Given the description of an element on the screen output the (x, y) to click on. 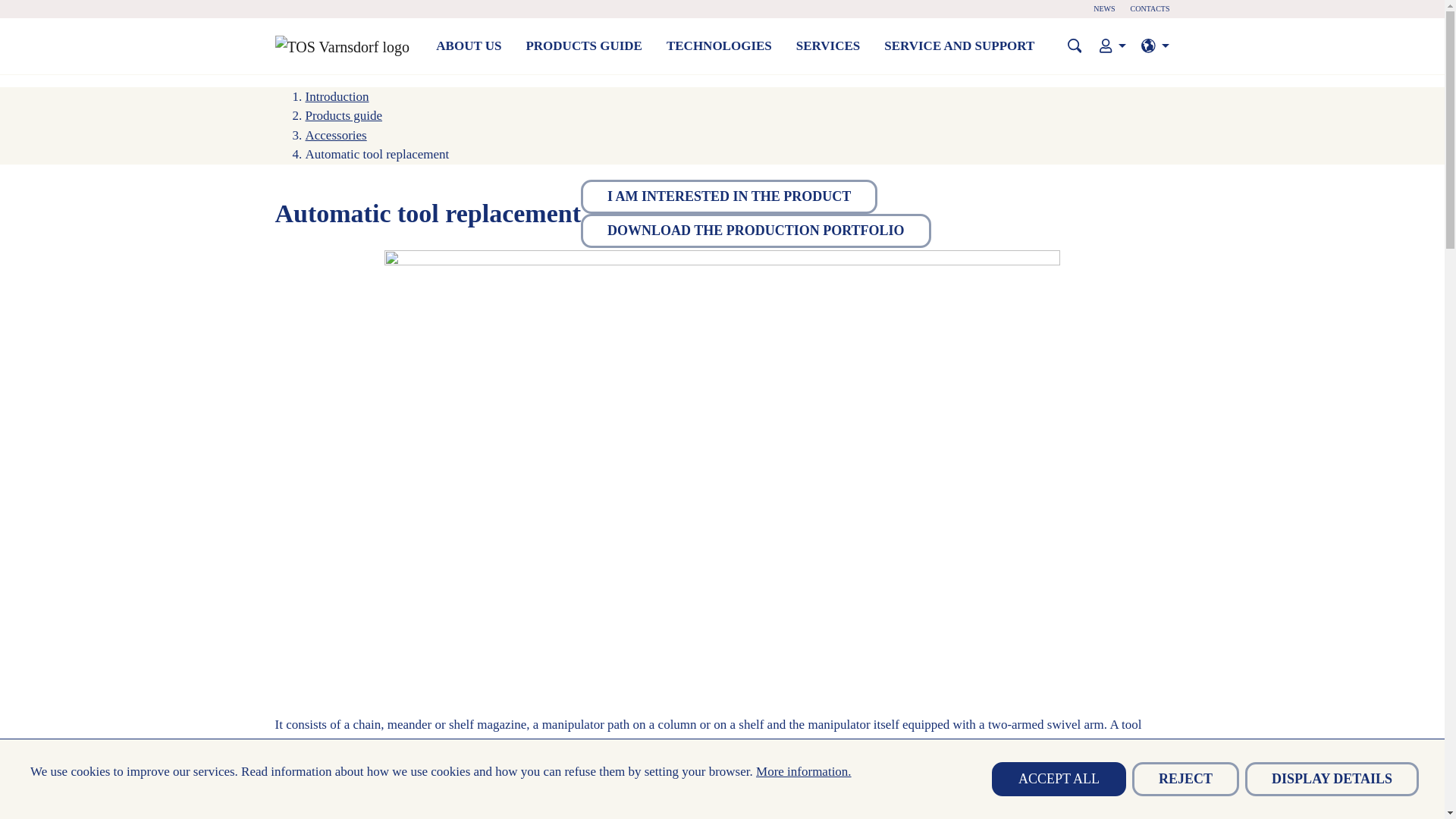
SERVICE AND SUPPORT (959, 46)
PRODUCTS GUIDE (583, 46)
Accessories (335, 134)
Introduction (336, 96)
DOWNLOAD THE PRODUCTION PORTFOLIO (755, 230)
TECHNOLOGIES (718, 46)
ABOUT US (468, 46)
Change the page language (1154, 45)
Products guide (342, 115)
CONTACTS (1149, 9)
I AM INTERESTED IN THE PRODUCT (728, 196)
NEWS (1104, 9)
SERVICES (828, 46)
